Given the description of an element on the screen output the (x, y) to click on. 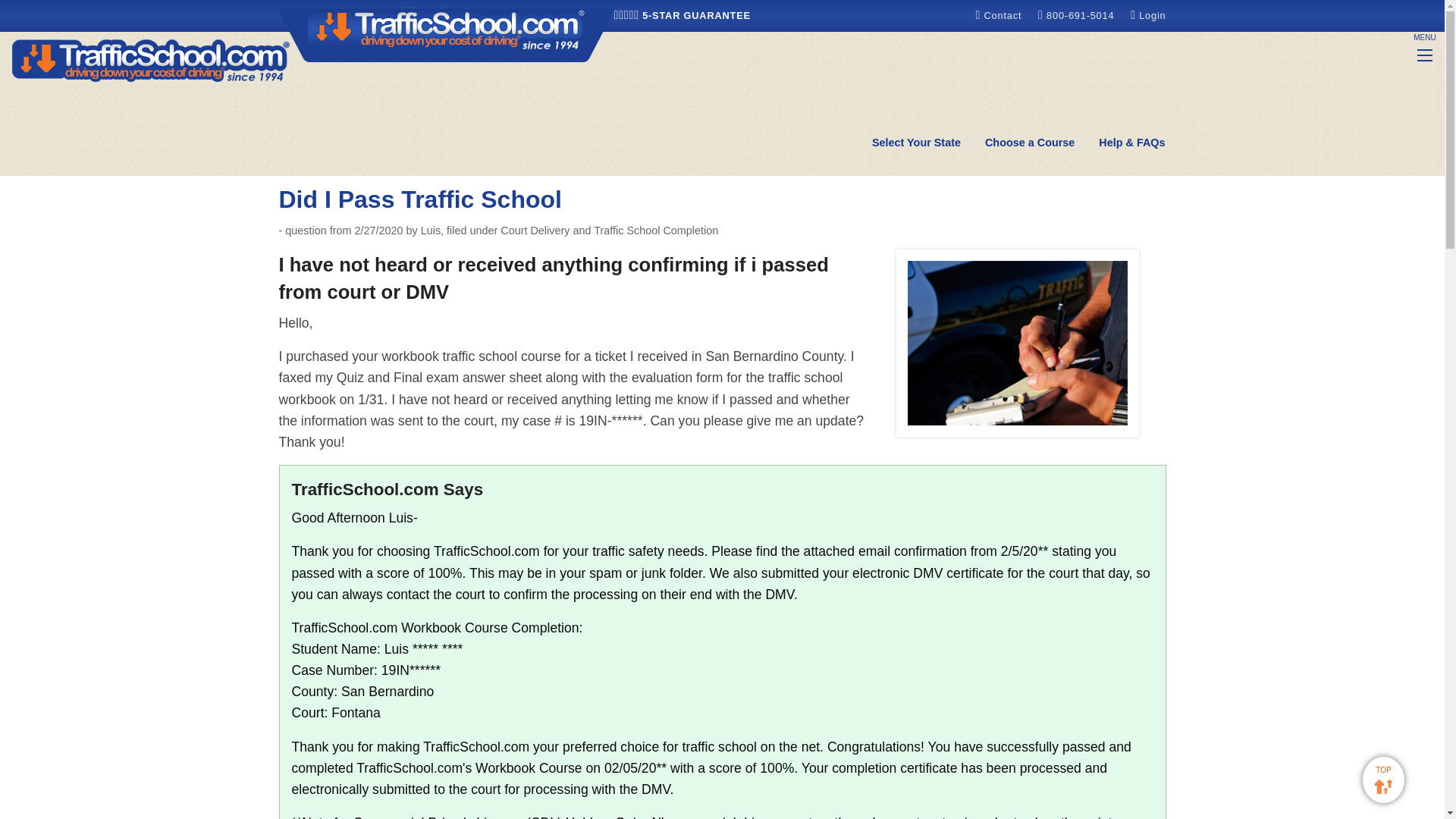
Contact Traffic School (1000, 15)
Help and FAQs (1131, 142)
Login (1148, 15)
Traffic School Answers Home (406, 123)
Traffic School Completion (703, 123)
Traffic School Home (150, 58)
TrafficSchool.com 5 Star Guarantee (682, 15)
800-691-5014 (1078, 15)
Proof of Completion (836, 123)
5-STAR GUARANTEE (682, 15)
